Given the description of an element on the screen output the (x, y) to click on. 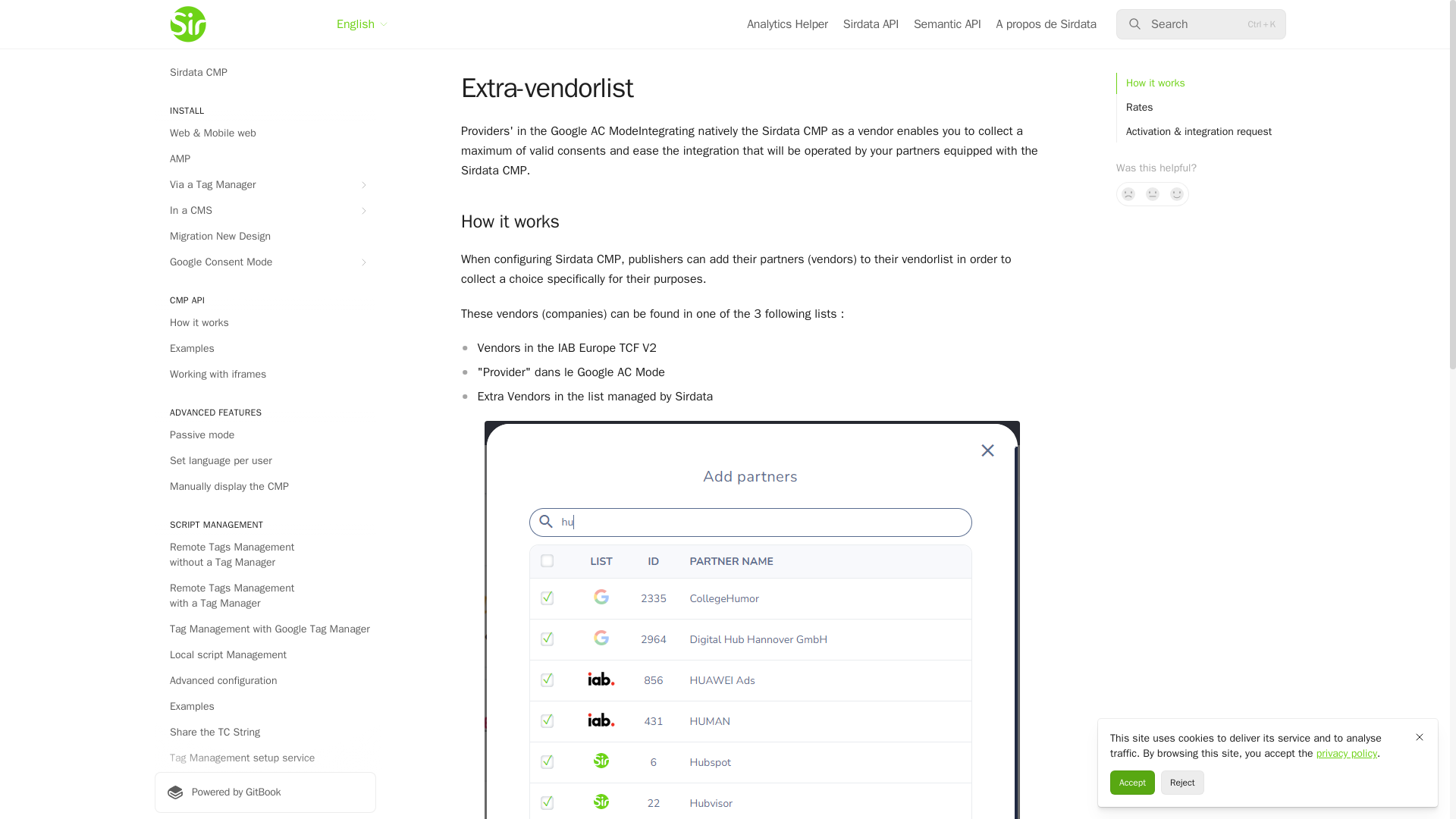
No (1128, 193)
Not sure (1152, 193)
Google Consent Mode (264, 262)
Analytics Helper (787, 24)
Semantic API (947, 24)
Yes, it was! (1176, 193)
Remote Tags Management without a Tag Manager (264, 554)
Sirdata CMP (264, 72)
Manually display the CMP (264, 486)
Migration New Design (264, 236)
Examples (264, 348)
Passive mode (264, 435)
Via a Tag Manager (264, 184)
Close (1419, 737)
Remote Tags Management with a Tag Manager (264, 595)
